Given the description of an element on the screen output the (x, y) to click on. 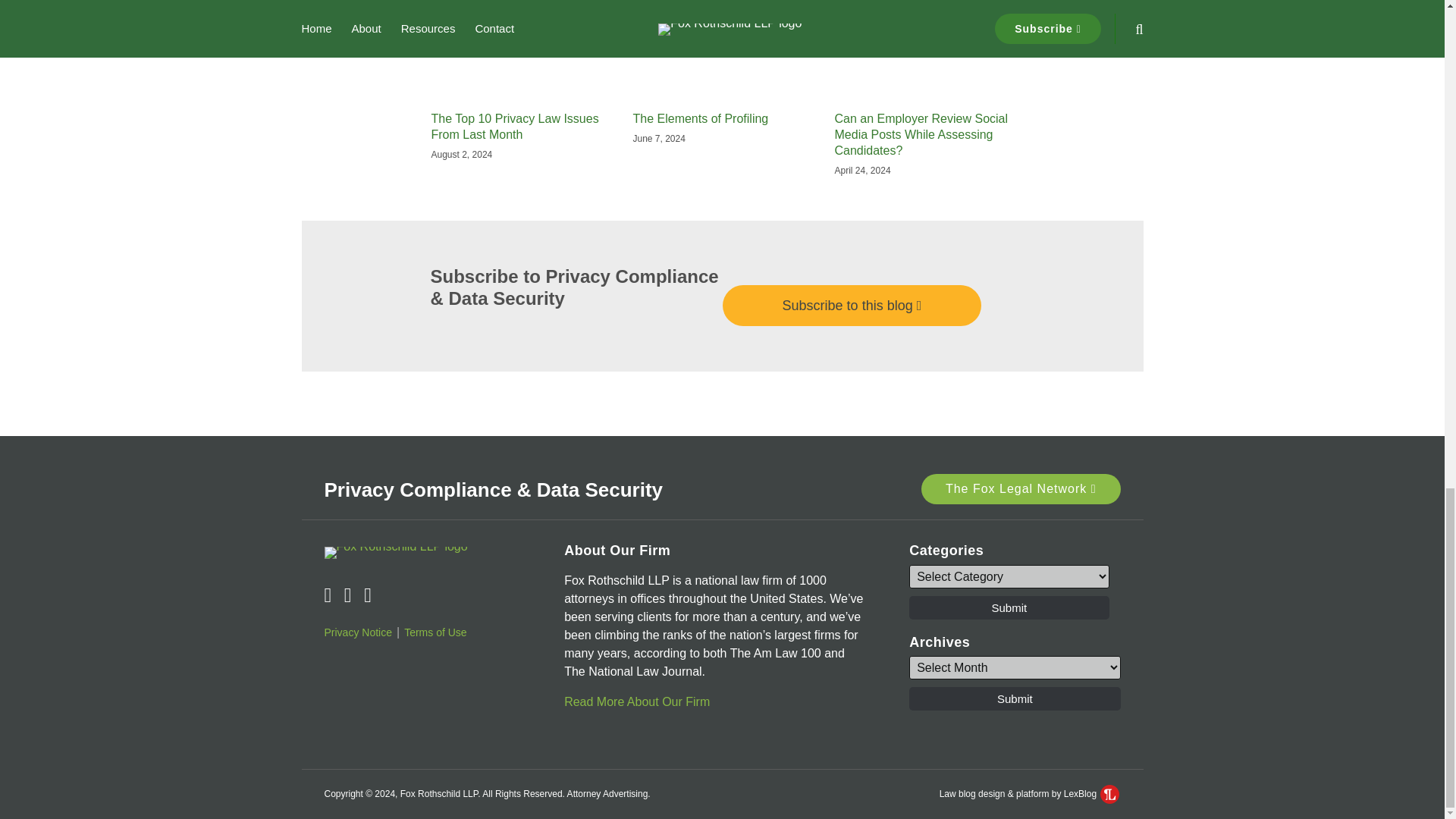
The Fox Legal Network (1021, 489)
Submit (1008, 607)
Subscribe to this blog (851, 305)
LexBlog Logo (1109, 793)
Terms of Use (434, 632)
Submit (1013, 698)
The Elements of Profiling (699, 119)
Privacy Notice (357, 632)
The Top 10 Privacy Law Issues From Last Month (520, 127)
